Given the description of an element on the screen output the (x, y) to click on. 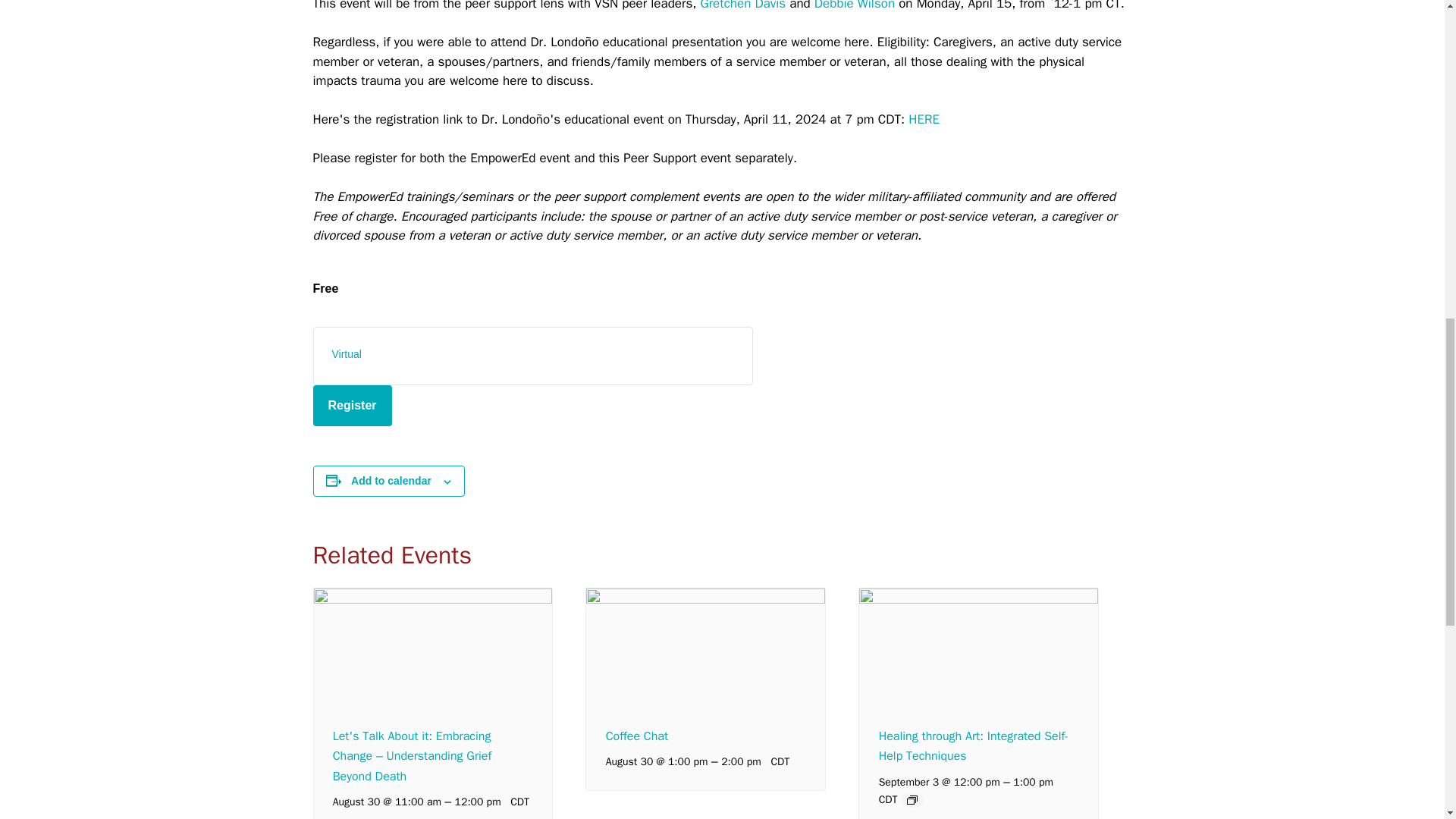
Event Series (912, 799)
Virtual (346, 354)
Scroll back to top (1406, 720)
